Given the description of an element on the screen output the (x, y) to click on. 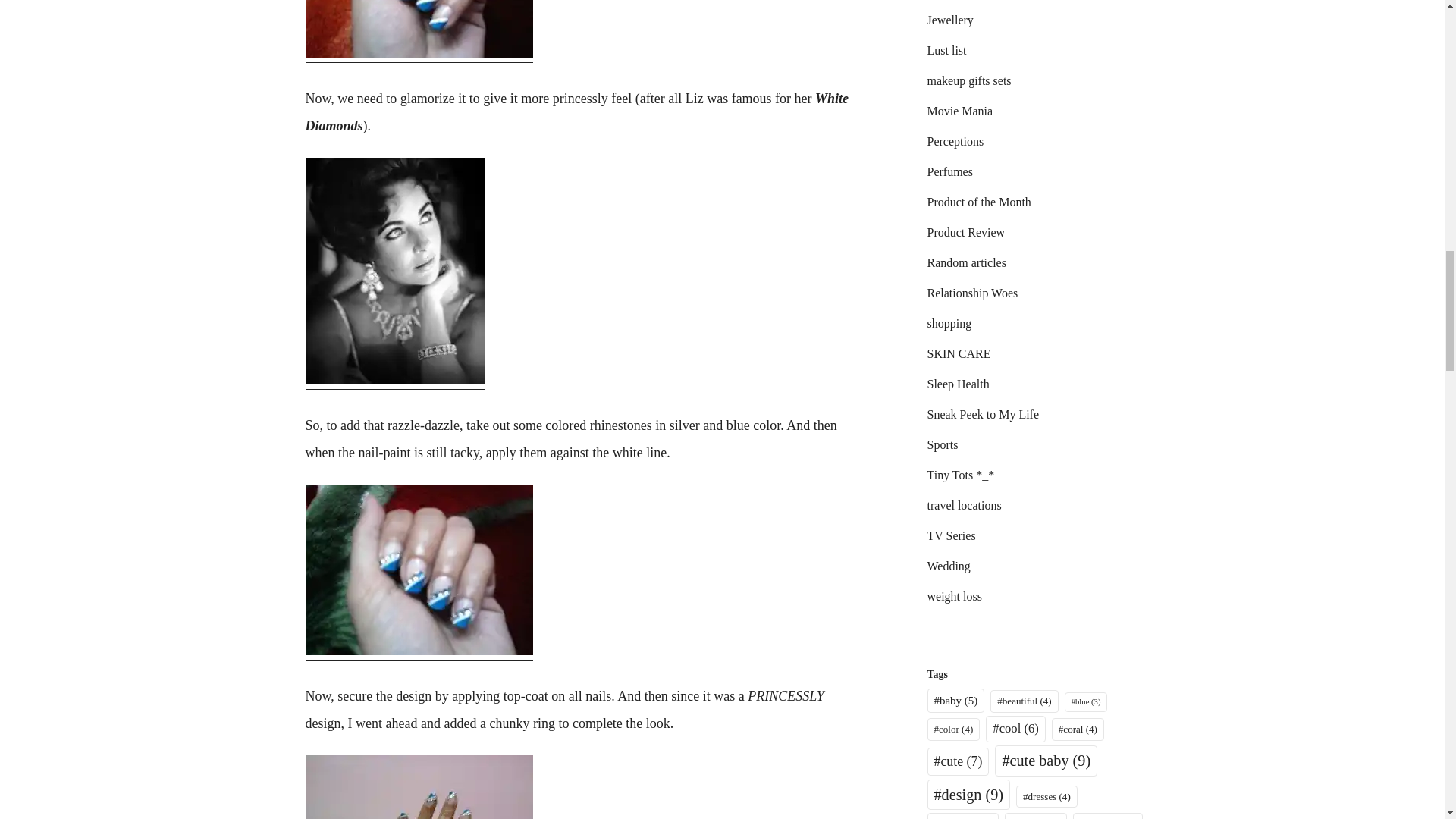
Photo3598 (418, 28)
Photo3604 (418, 569)
Photo3608 (418, 787)
